Given the description of an element on the screen output the (x, y) to click on. 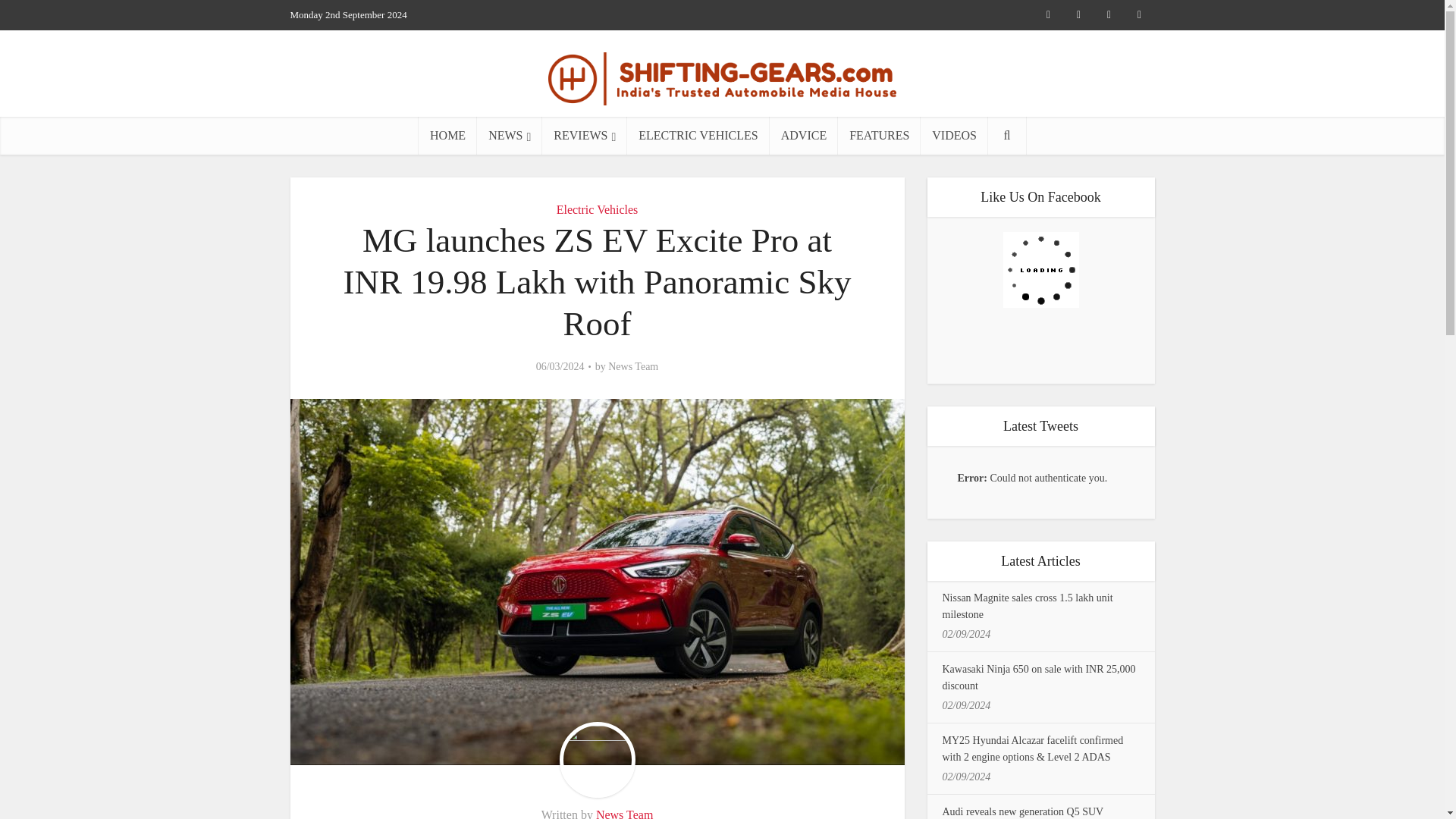
Electric Vehicles (597, 209)
HOME (448, 135)
News Team (623, 813)
Audi reveals new generation Q5 SUV (1022, 811)
Nissan Magnite sales cross 1.5 lakh unit milestone (1027, 605)
VIDEOS (954, 135)
REVIEWS (584, 135)
NEWS (509, 135)
ELECTRIC VEHICLES (697, 135)
Shifting-Gears (722, 73)
